Given the description of an element on the screen output the (x, y) to click on. 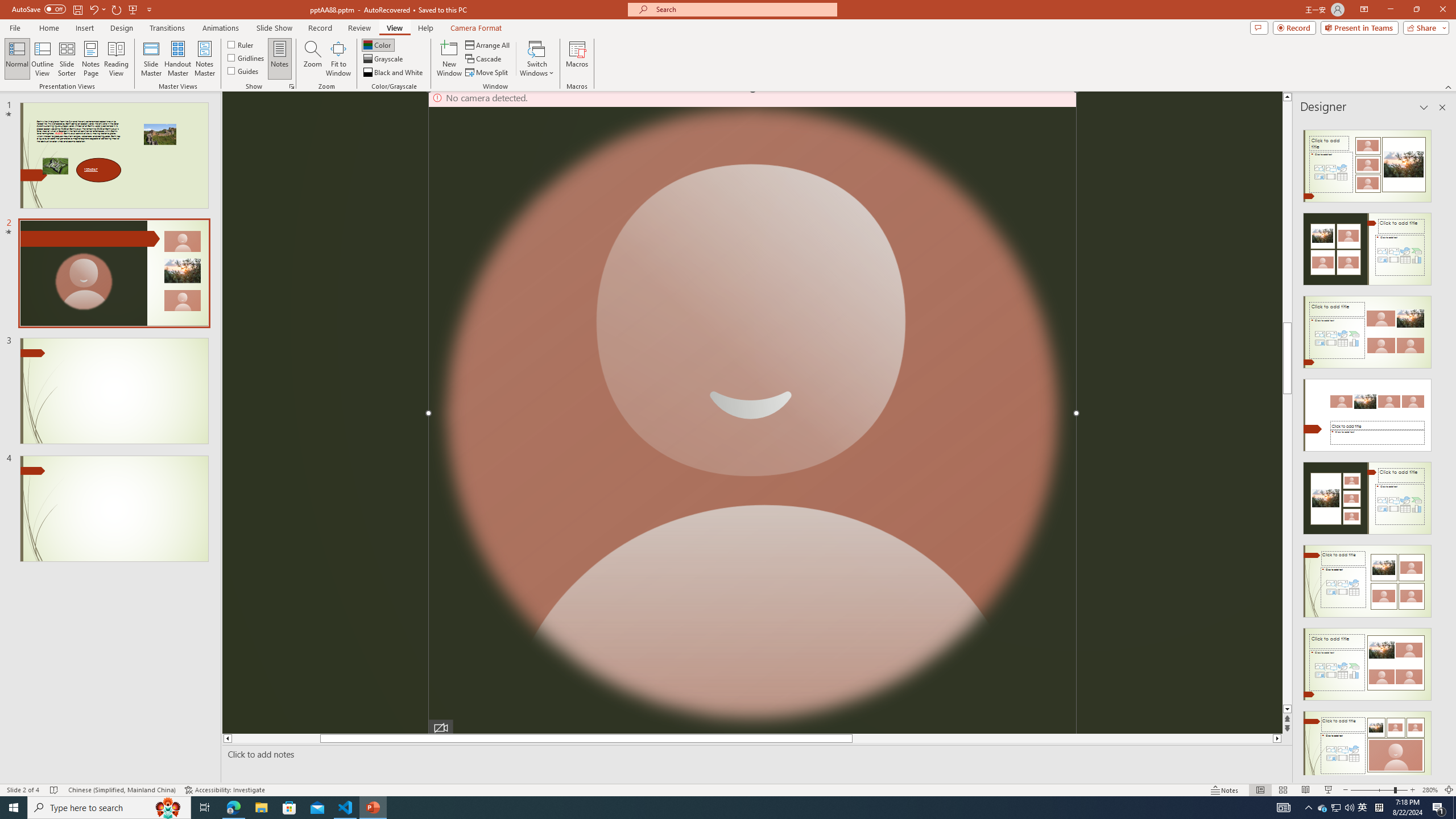
Guides (243, 69)
Zoom to Fit  (1449, 790)
Redo (117, 9)
Outline View (42, 58)
Ruler (241, 44)
Notes  (1225, 790)
File Tab (15, 27)
Share (1423, 27)
From Beginning (133, 9)
Quick Access Toolbar (82, 9)
Grid Settings... (291, 85)
